Given the description of an element on the screen output the (x, y) to click on. 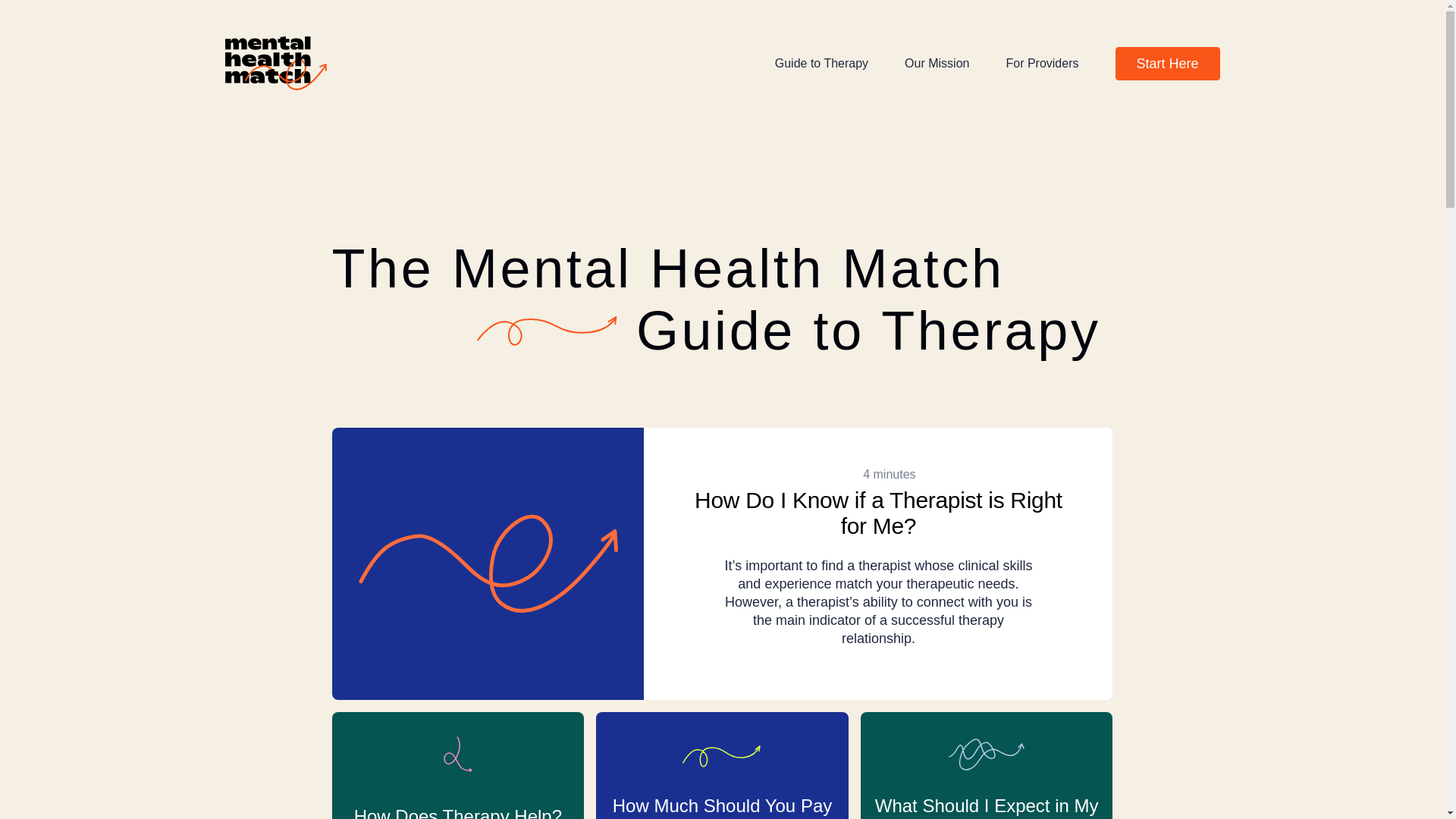
How Does Therapy Help? (458, 765)
How Much Should You Pay for Therapy? (721, 765)
Guide to Therapy (820, 62)
For Providers (1042, 62)
What Should I Expect in My First Therapy Session? (986, 765)
Start Here (1167, 63)
Our Mission (936, 62)
